Given the description of an element on the screen output the (x, y) to click on. 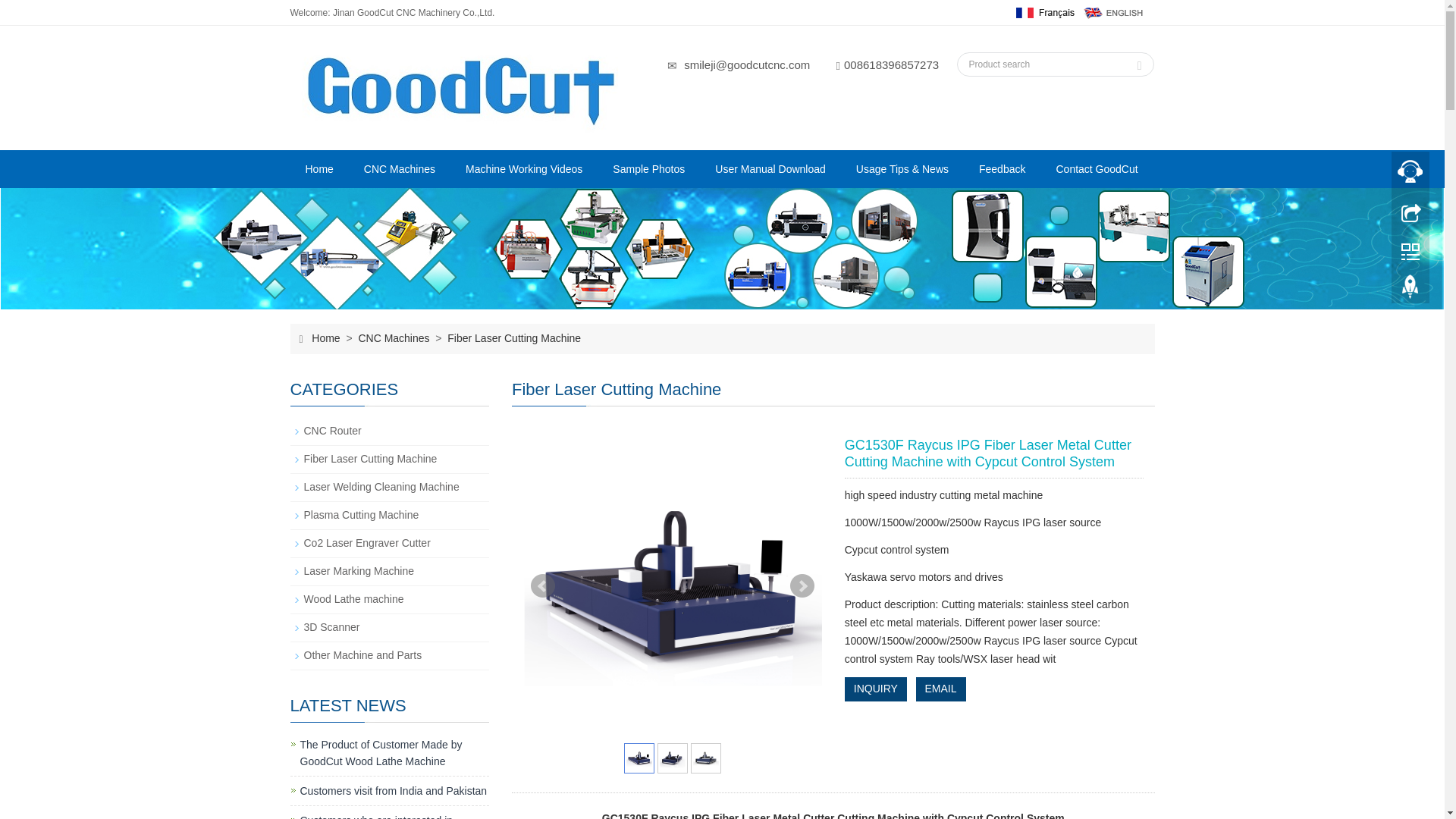
Customers who are interested in GoodCut Machines (375, 816)
The Product of Customer Made by GoodCut Wood Lathe Machine (381, 752)
User Manual Download (770, 168)
Product search (1139, 60)
Contact GoodCut (1097, 168)
Machine Working Videos (522, 168)
English (1113, 11)
Sample Photos (648, 168)
Feedback (1002, 168)
France (1043, 11)
Home (318, 168)
CNC Machines (399, 168)
Customers visit from India and Pakistan (393, 790)
